Given the description of an element on the screen output the (x, y) to click on. 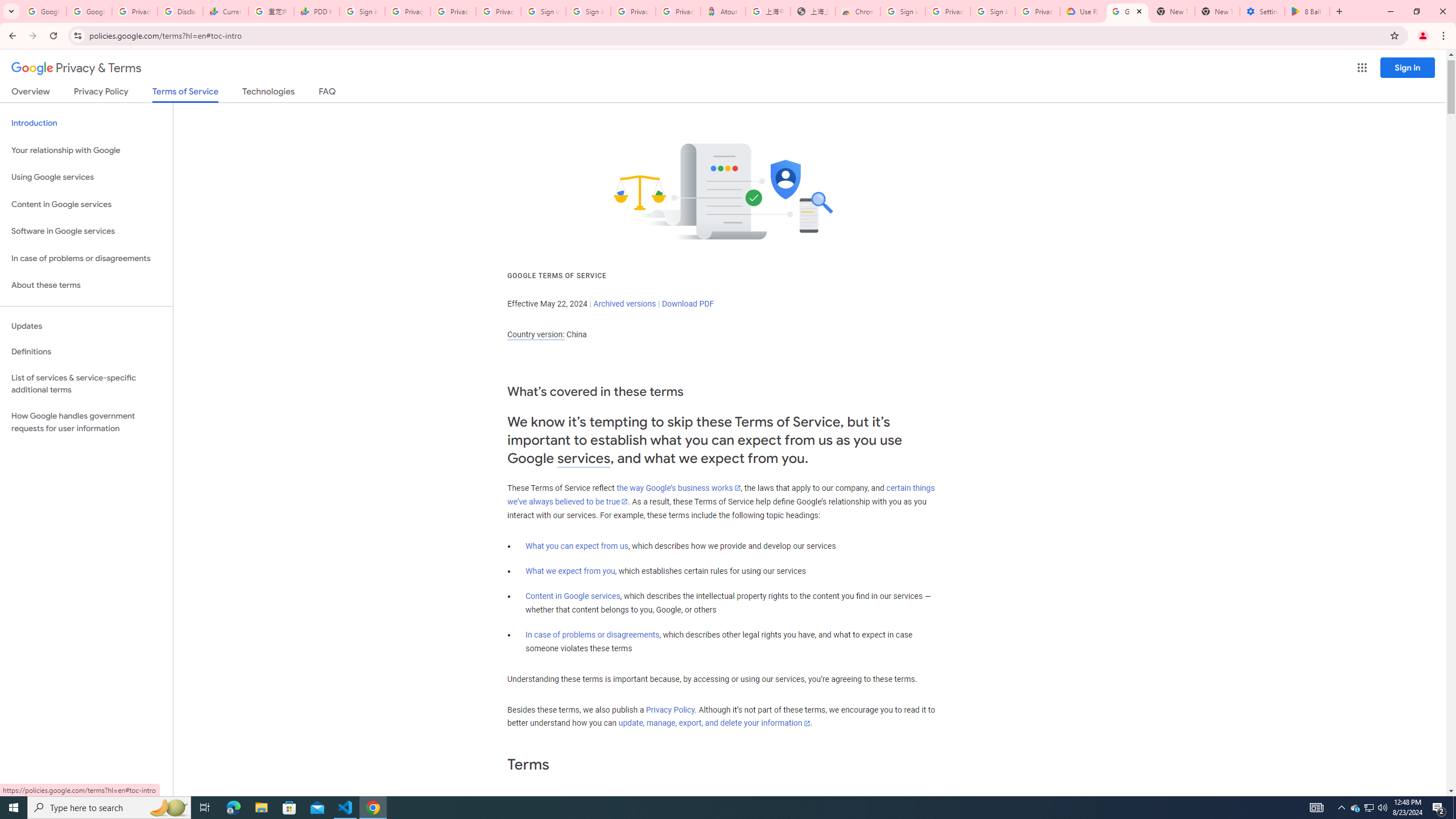
Software in Google services (86, 230)
Sign in - Google Accounts (587, 11)
What you can expect from us (576, 545)
